Given the description of an element on the screen output the (x, y) to click on. 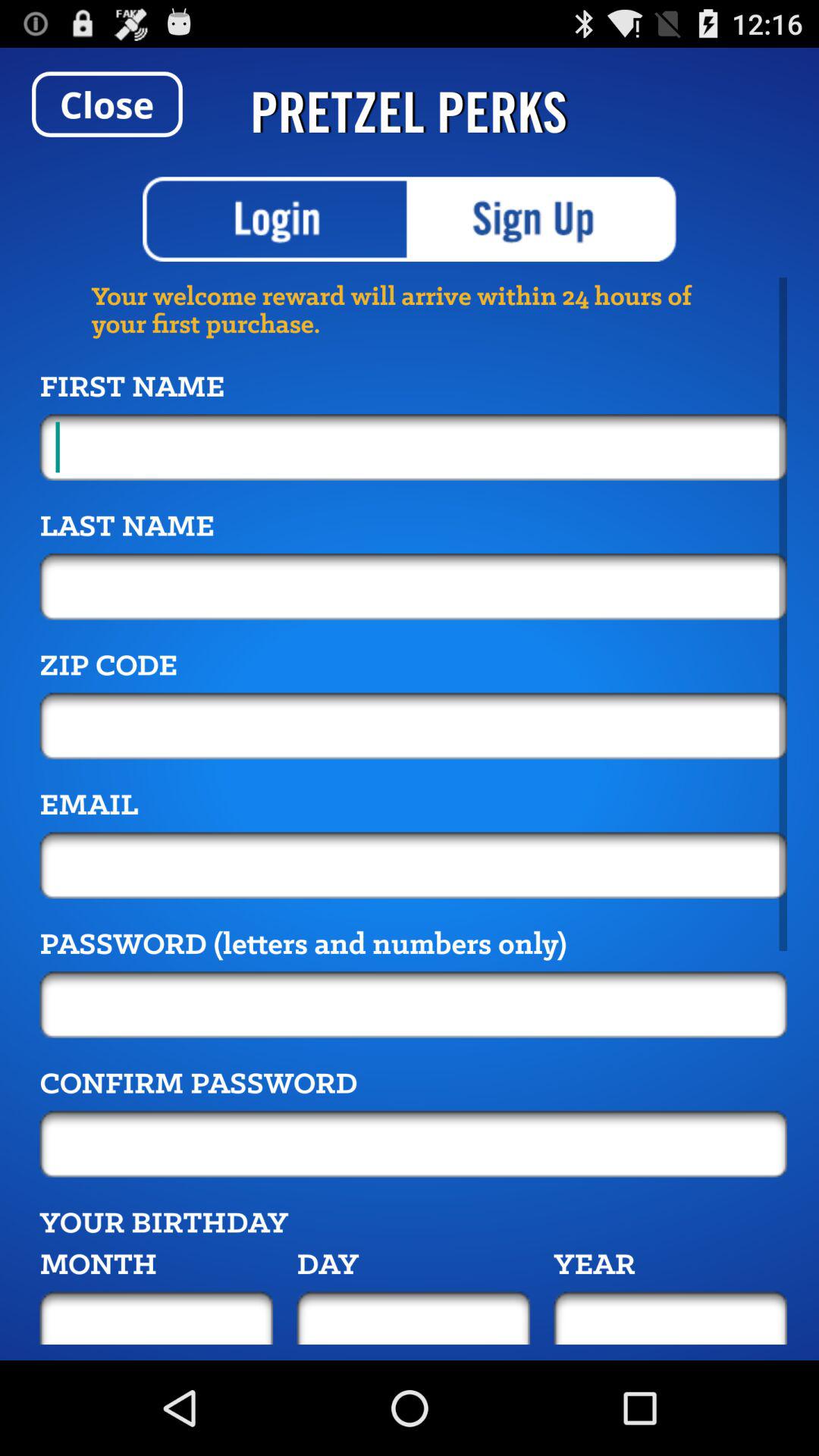
add zip code (413, 725)
